Given the description of an element on the screen output the (x, y) to click on. 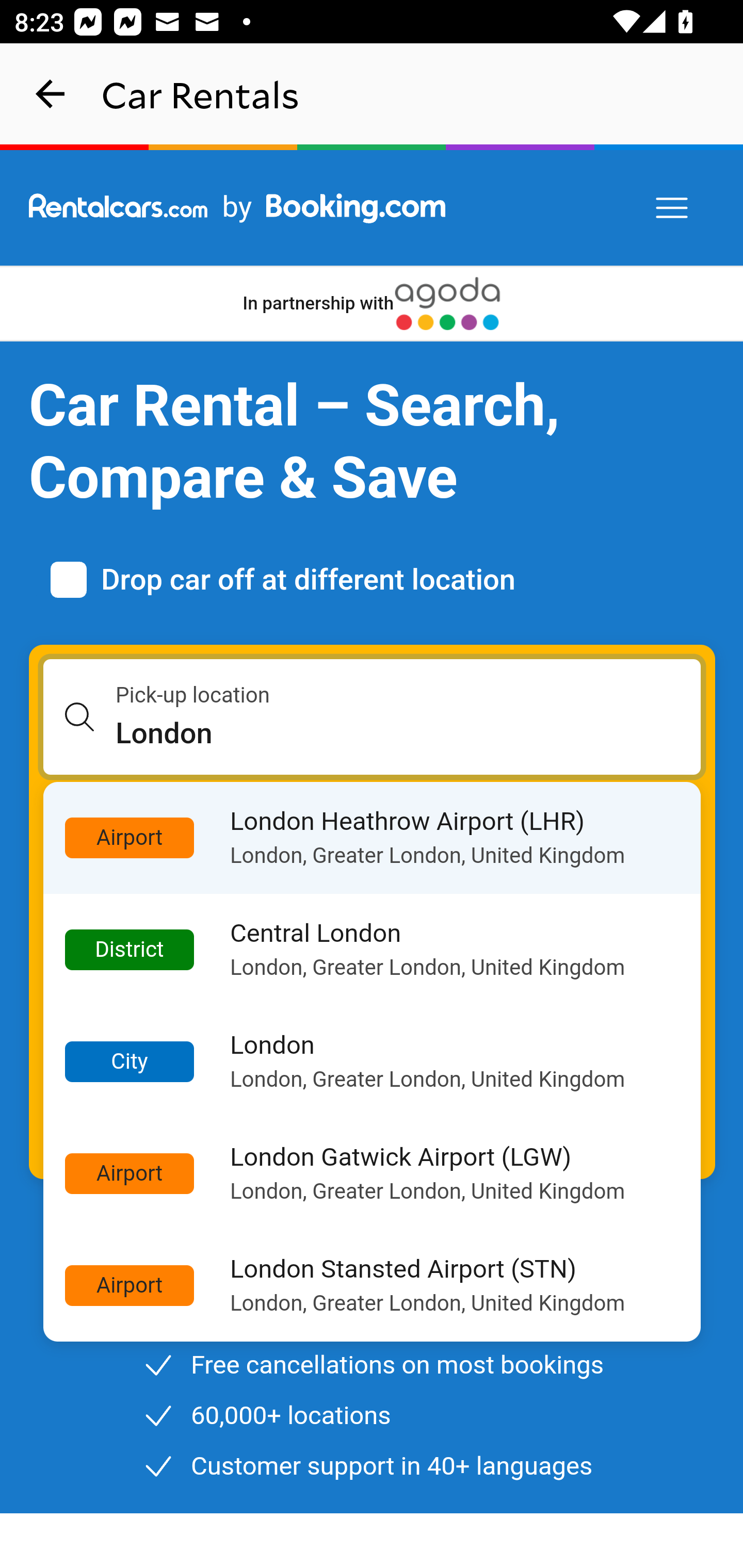
navigation_button (50, 93)
Menu (672, 208)
Pick-up location London (372, 717)
London (408, 733)
City London London, Greater London, United Kingdom (372, 1061)
Driver aged between 30 - 65? (52, 1216)
